Given the description of an element on the screen output the (x, y) to click on. 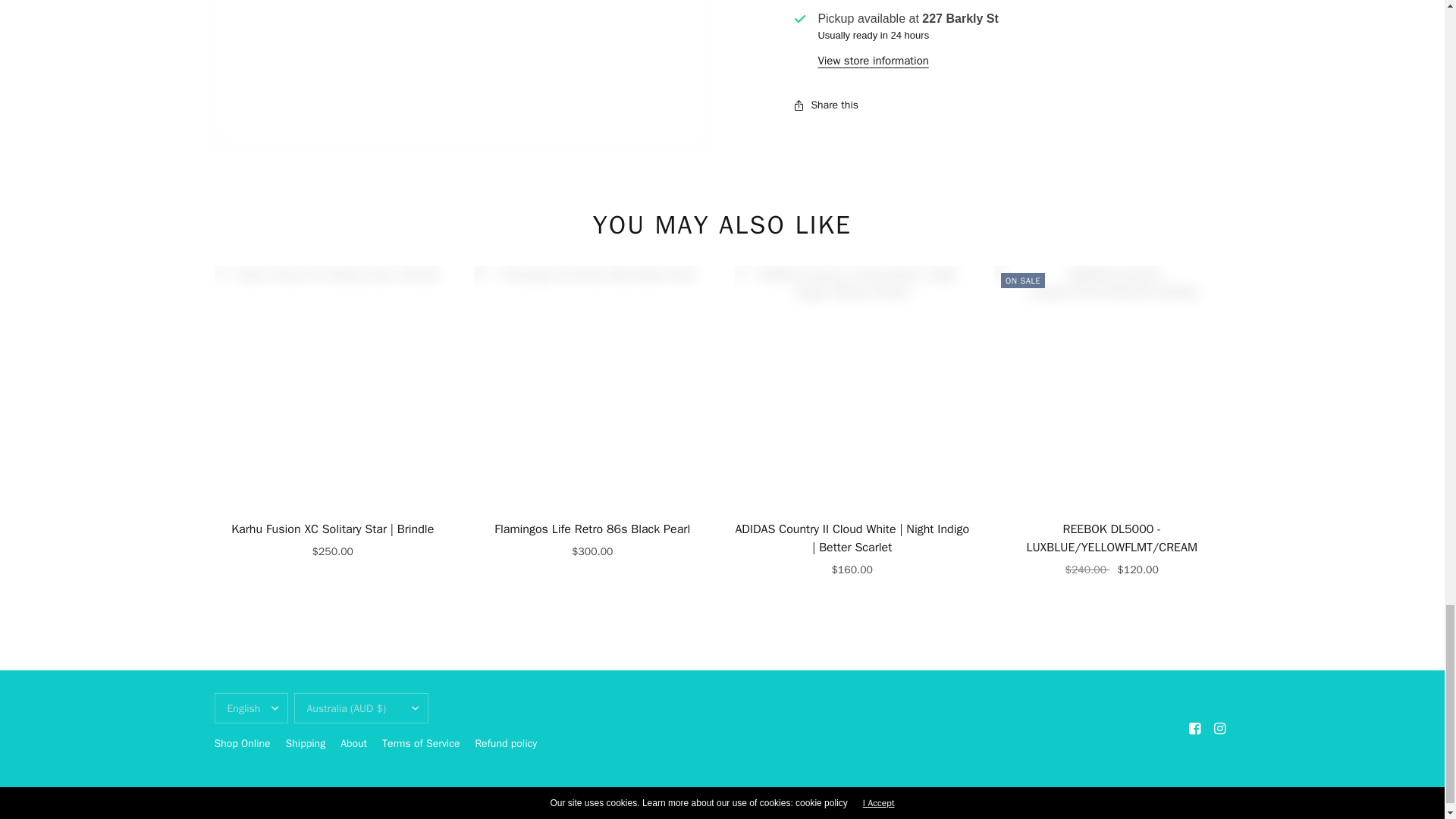
PayPal (1123, 812)
Shop Pay (1154, 812)
American Express (1028, 812)
Google Pay (1060, 812)
Mastercard (1091, 812)
Visa (1218, 812)
Union Pay (1186, 812)
